Given the description of an element on the screen output the (x, y) to click on. 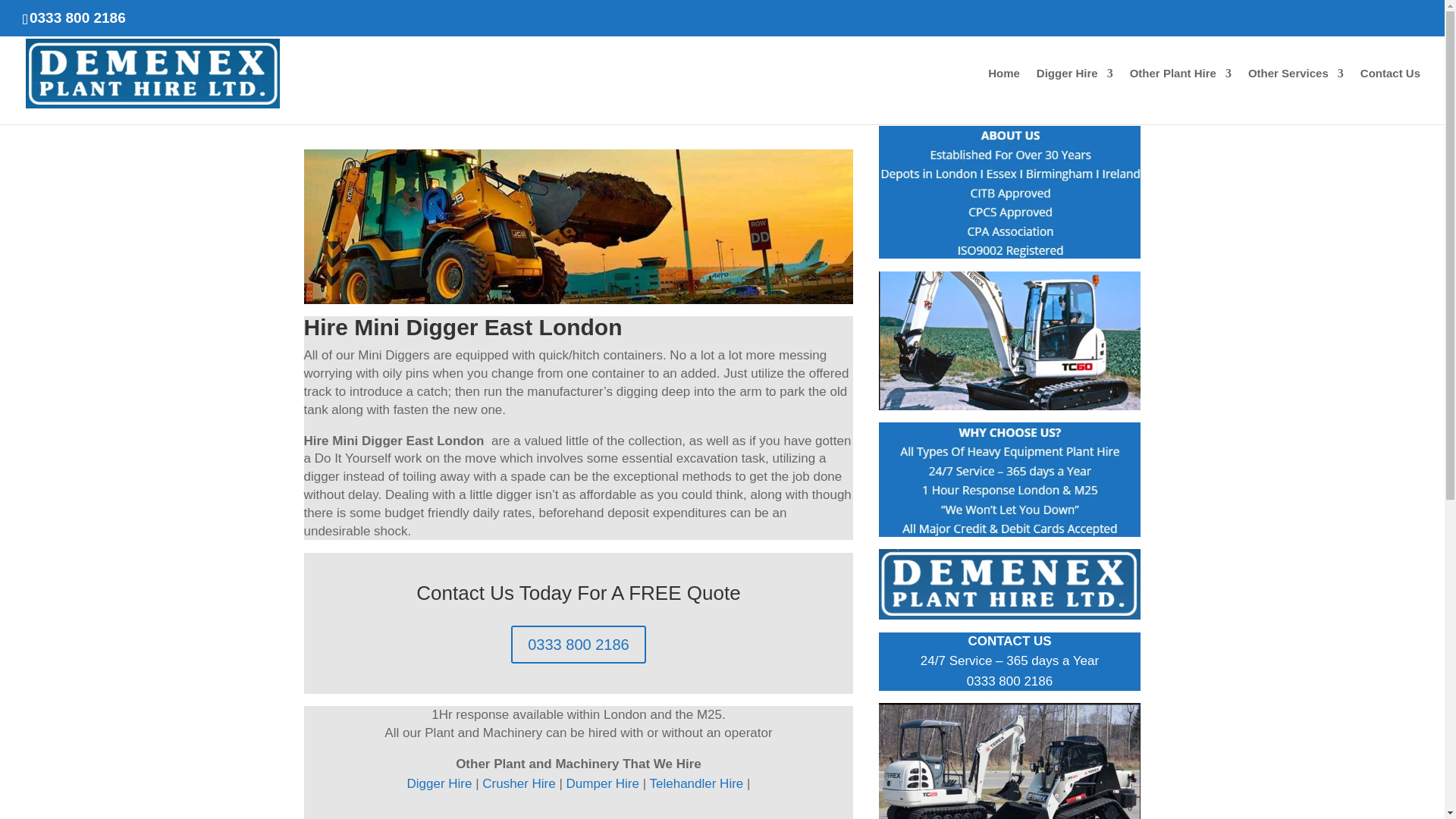
Crusher Hire (517, 783)
Dumper Hire (602, 783)
Digger Hire (441, 783)
Hire Mini Digger East London (1010, 583)
Other Services (1295, 95)
Hire Mini Digger East London (1010, 760)
Contact Us (1390, 95)
Digger Hire (1074, 95)
0333 800 2186 (578, 644)
Hire Mini Digger East London (1010, 192)
Hire Mini Digger East London (1010, 340)
Other Plant Hire (1180, 95)
Telehandler Hire (695, 783)
Hire Mini Digger East London (1010, 479)
